Given the description of an element on the screen output the (x, y) to click on. 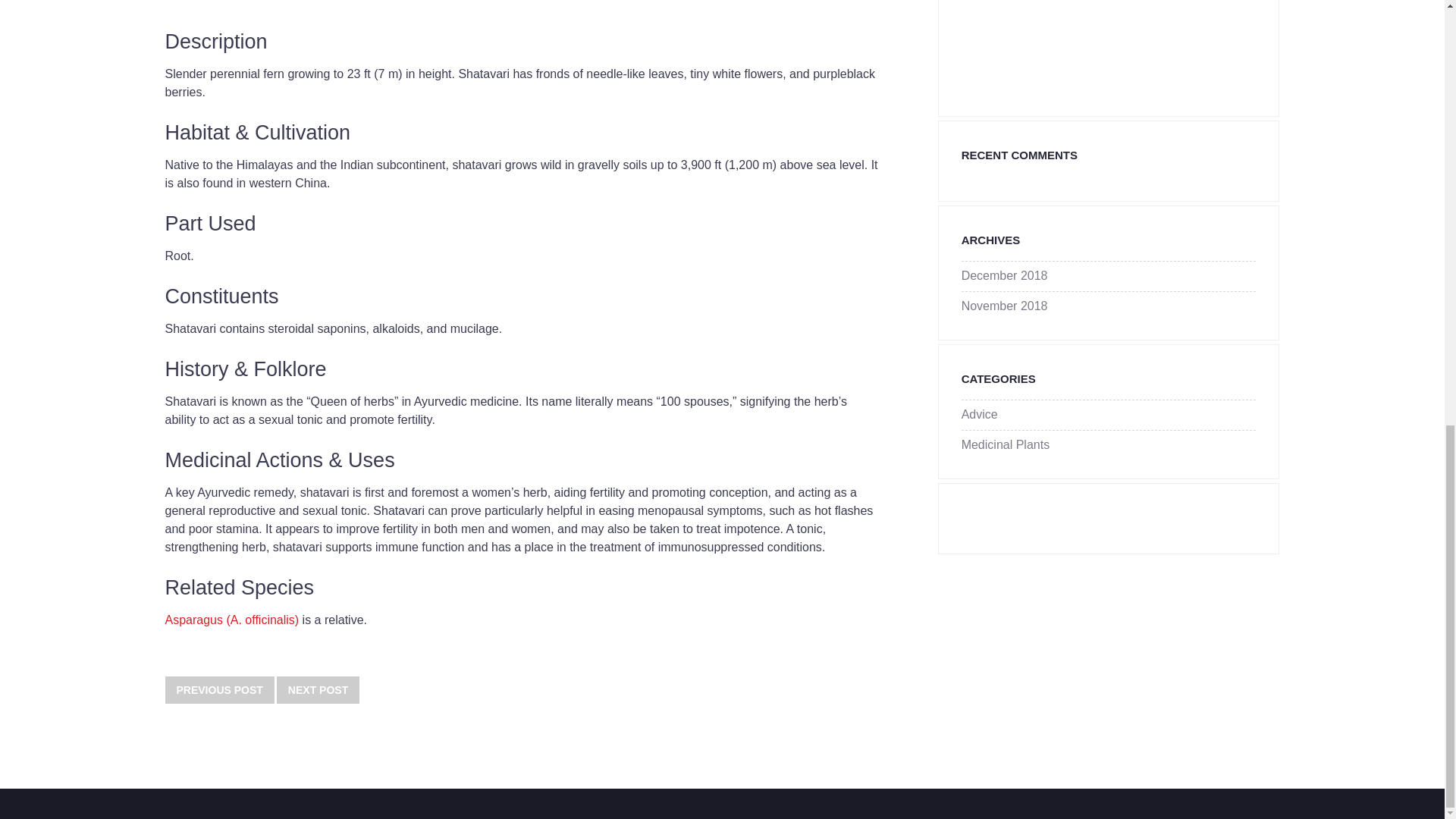
November 2018 (1004, 305)
Medicinal Plants (1004, 444)
December 2018 (1004, 275)
Advice (978, 413)
PREVIOUS POST (220, 689)
Advertisement (521, 11)
NEXT POST (317, 689)
Advertisement (1074, 43)
